Given the description of an element on the screen output the (x, y) to click on. 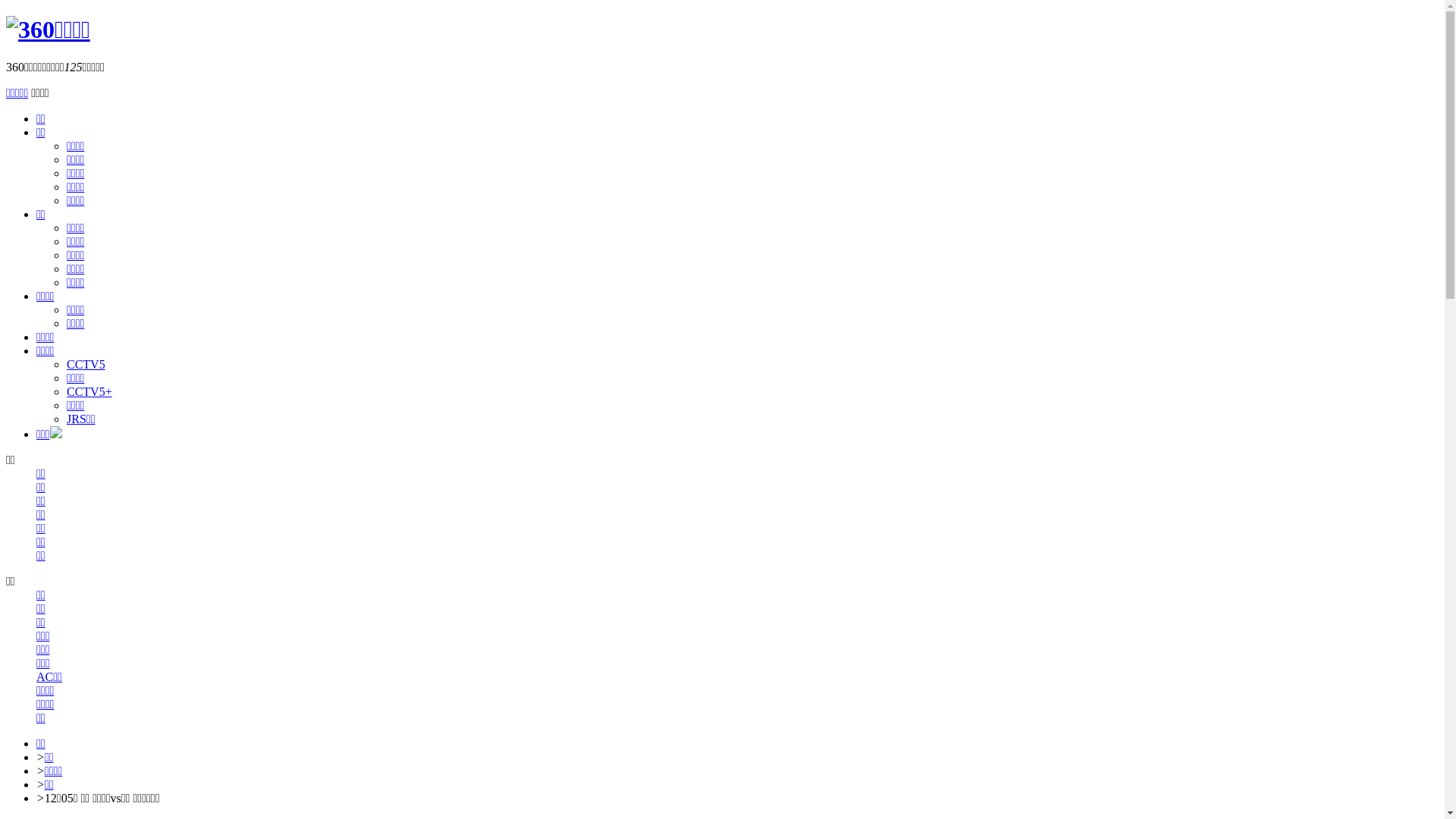
CCTV5+ Element type: text (89, 391)
CCTV5 Element type: text (85, 363)
